Given the description of an element on the screen output the (x, y) to click on. 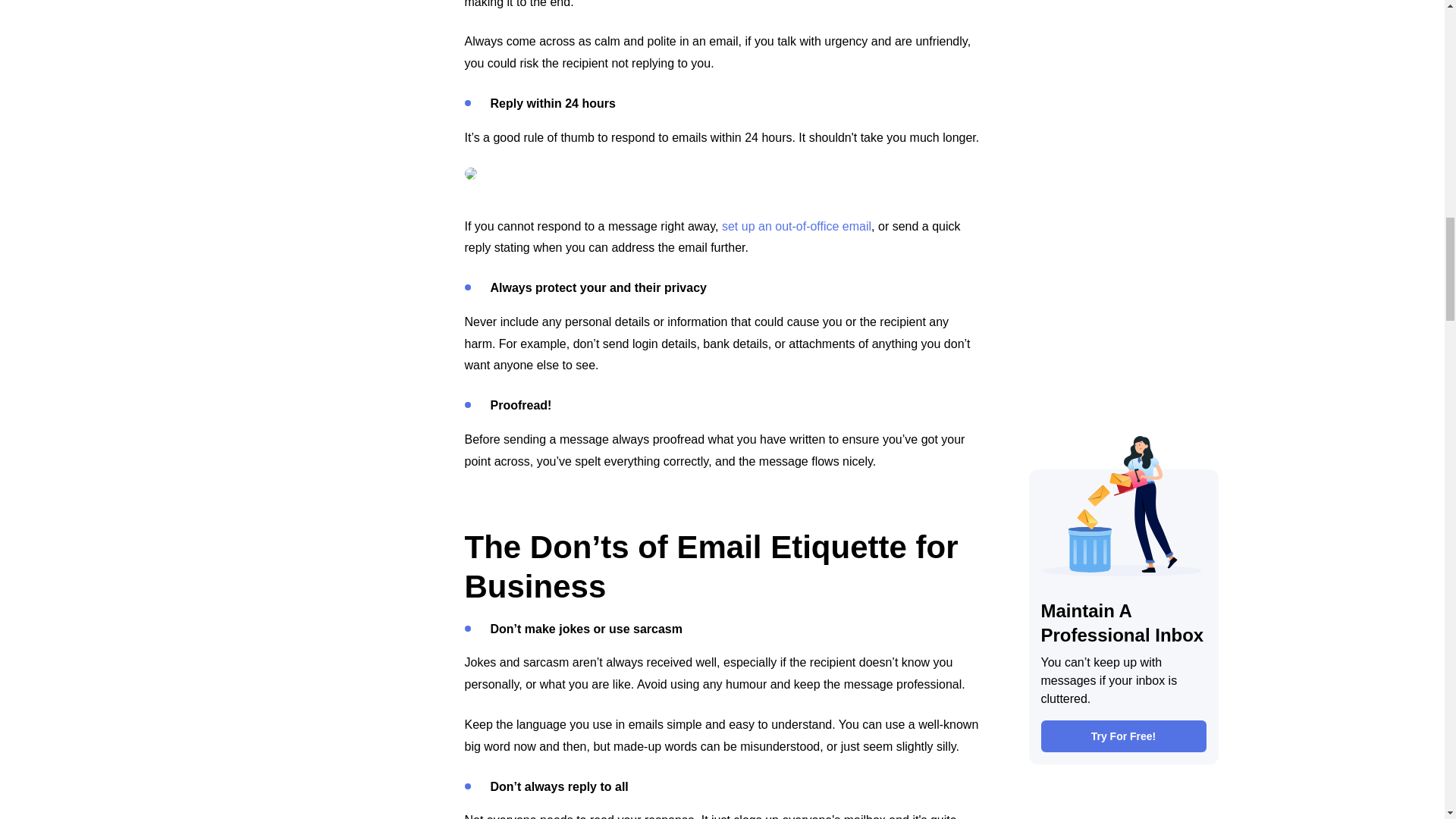
set up an out-of-office email (796, 226)
